Given the description of an element on the screen output the (x, y) to click on. 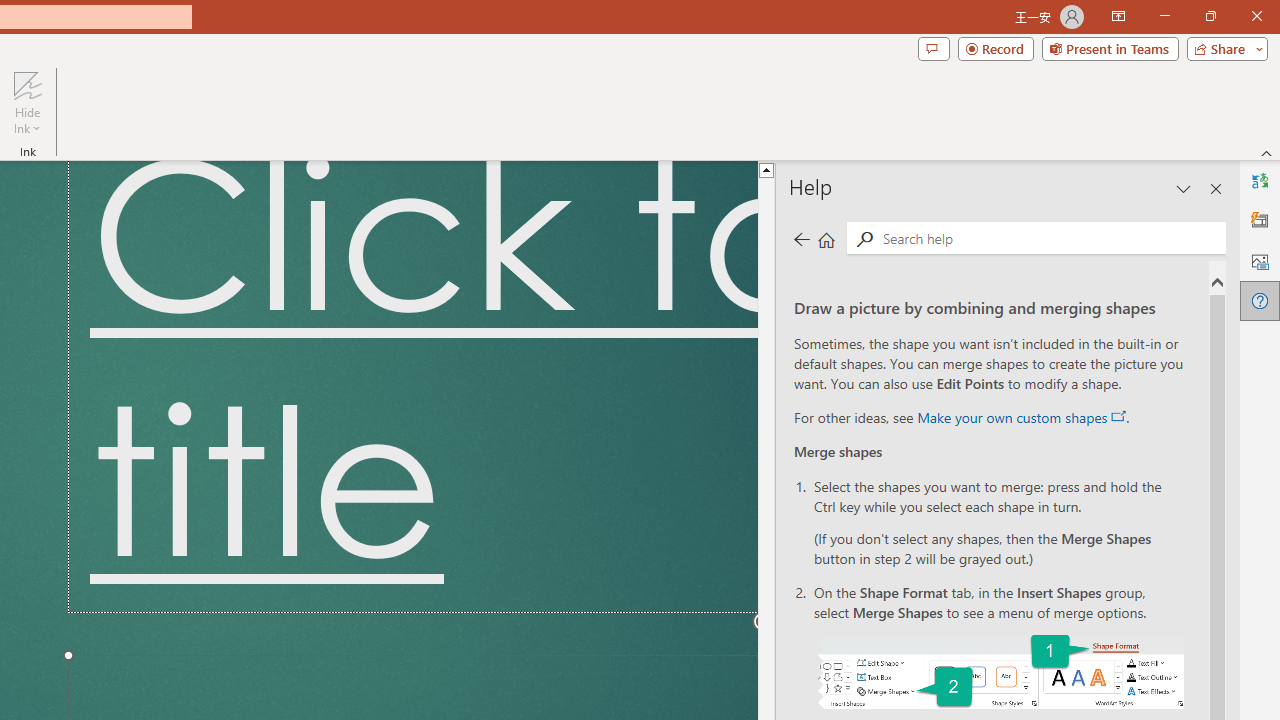
Previous page (801, 238)
On the Shape Format tab, select Merge Shapes. (1000, 671)
